Given the description of an element on the screen output the (x, y) to click on. 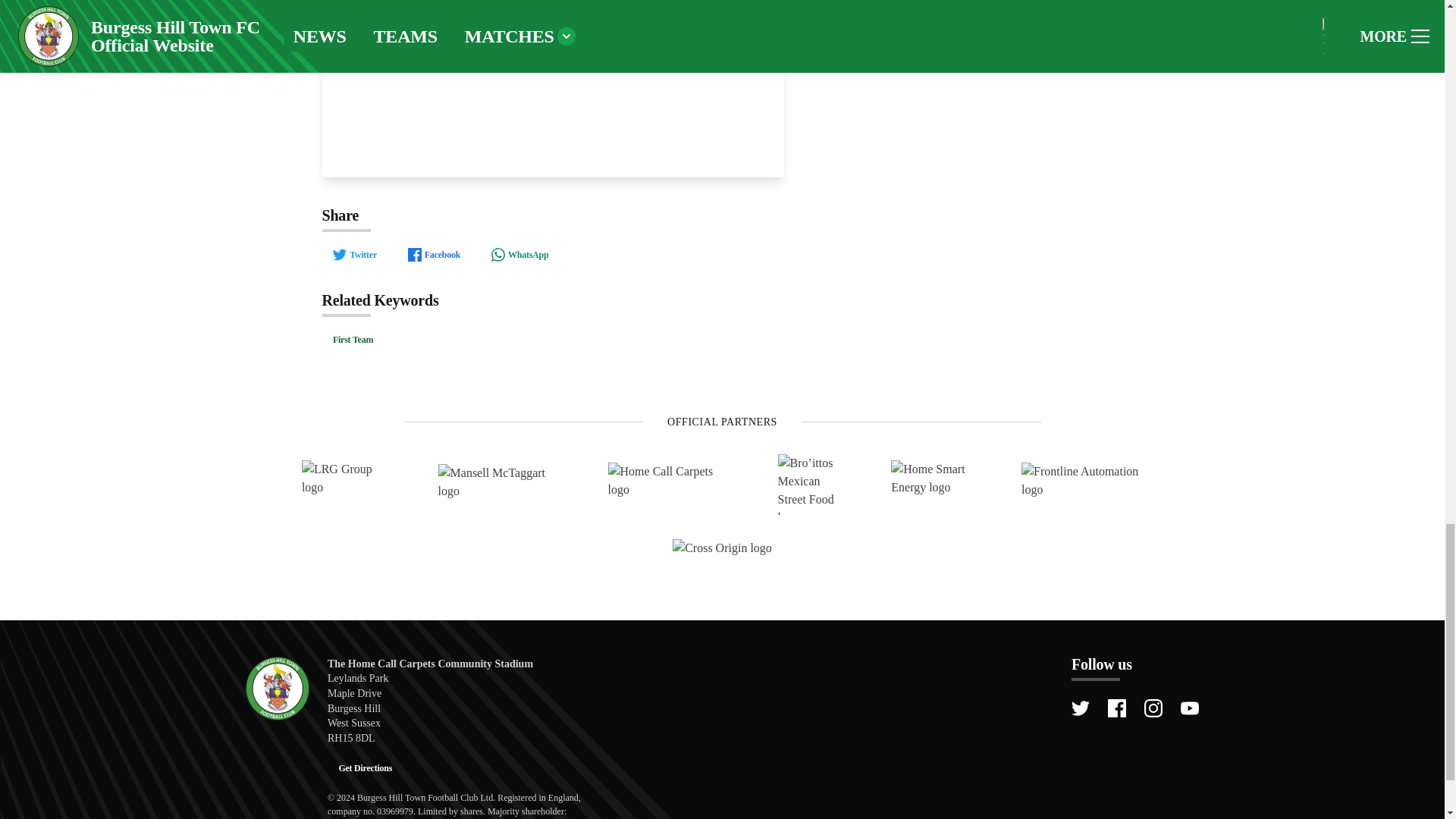
Facebook (433, 254)
Find us on Facebook (1116, 708)
WhatsApp (519, 254)
Find us on Twitter (1080, 708)
Find us on Instagram (1152, 708)
First Team (352, 338)
Find us on YouTube (1189, 708)
Twitter (354, 254)
